Given the description of an element on the screen output the (x, y) to click on. 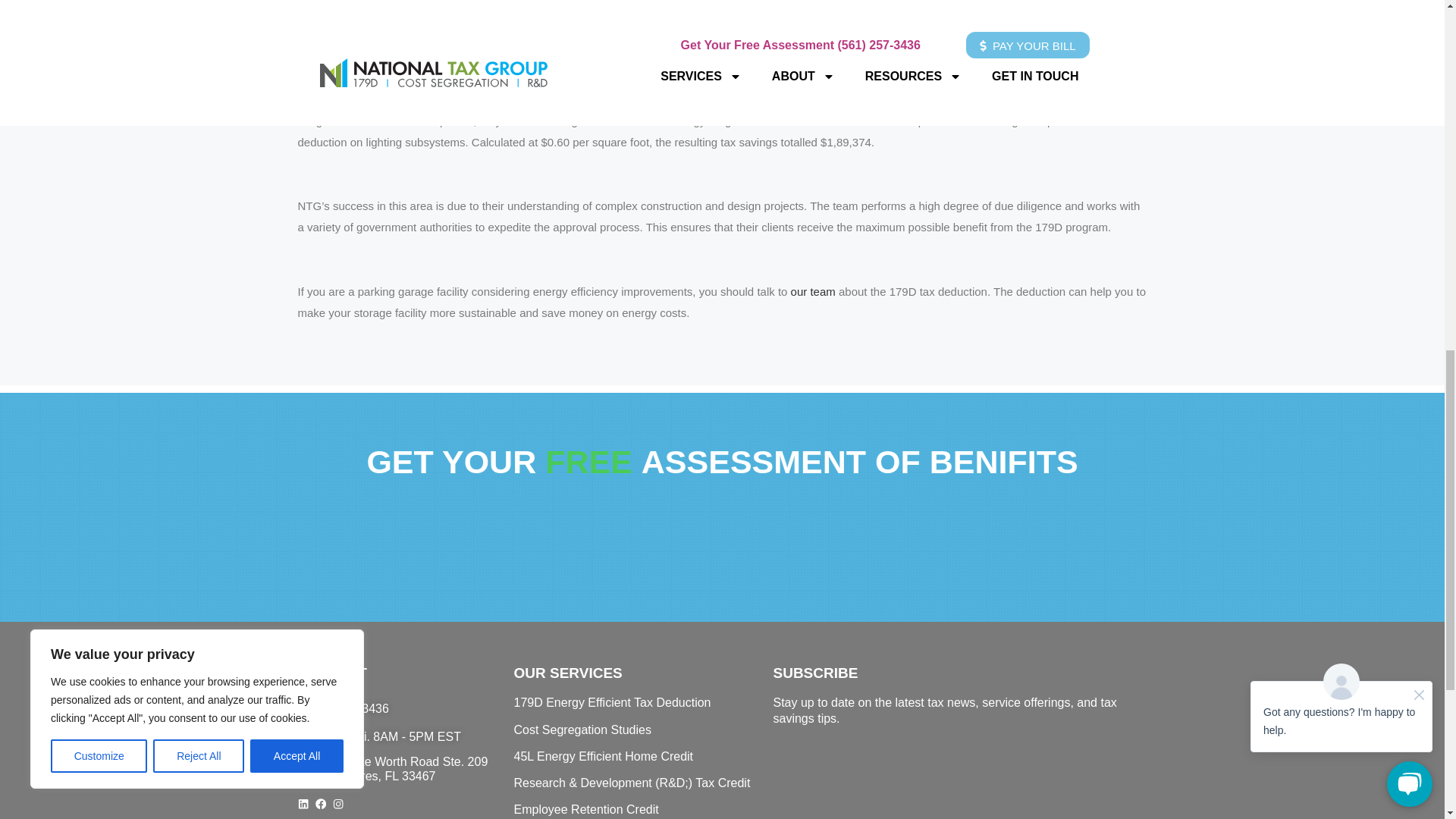
Form 0 (958, 785)
